Given the description of an element on the screen output the (x, y) to click on. 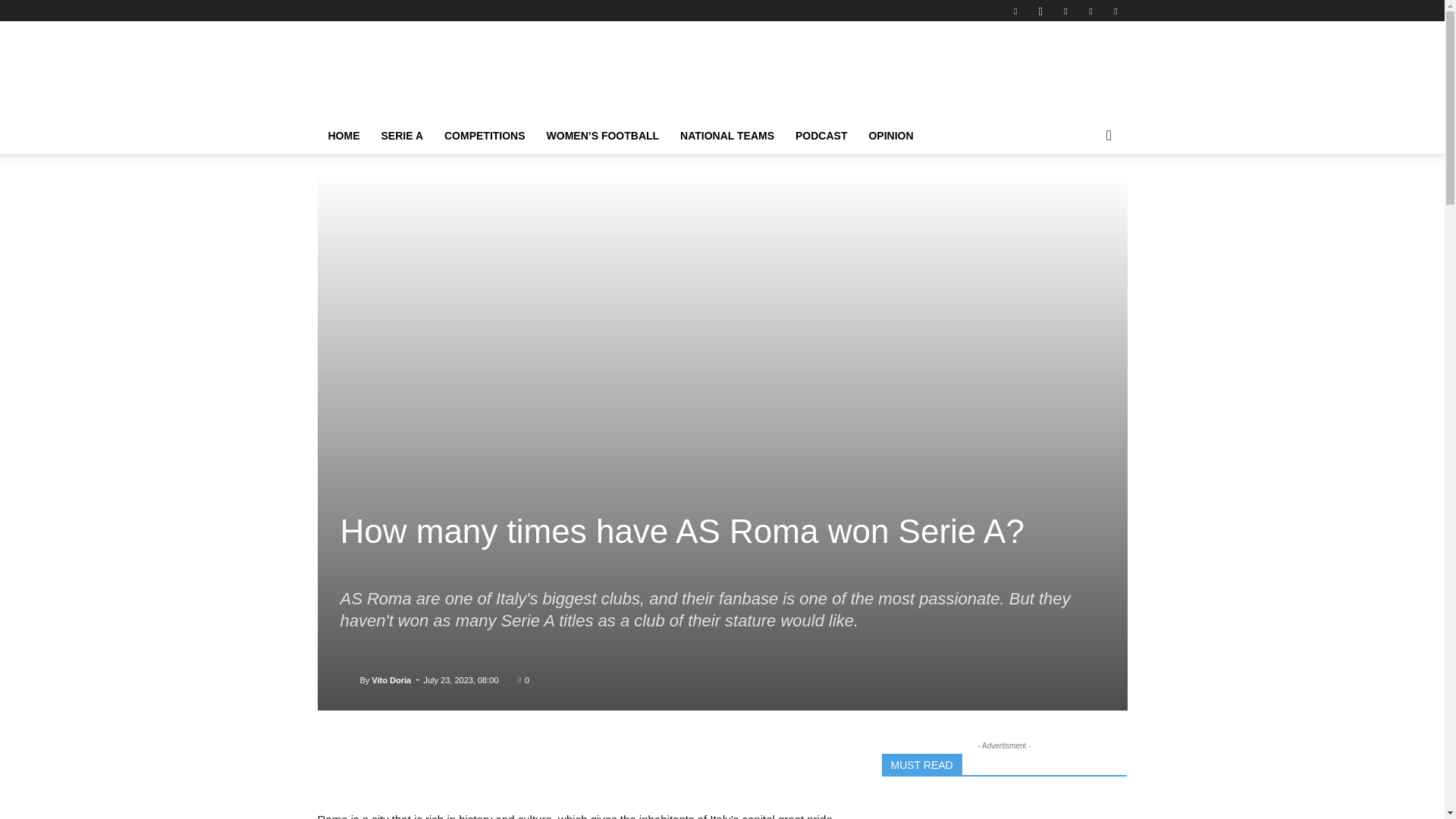
TikTok (1090, 10)
Instagram (1040, 10)
Facebook (1015, 10)
Twitter (1114, 10)
Vito Doria (349, 679)
Mail (1065, 10)
